Given the description of an element on the screen output the (x, y) to click on. 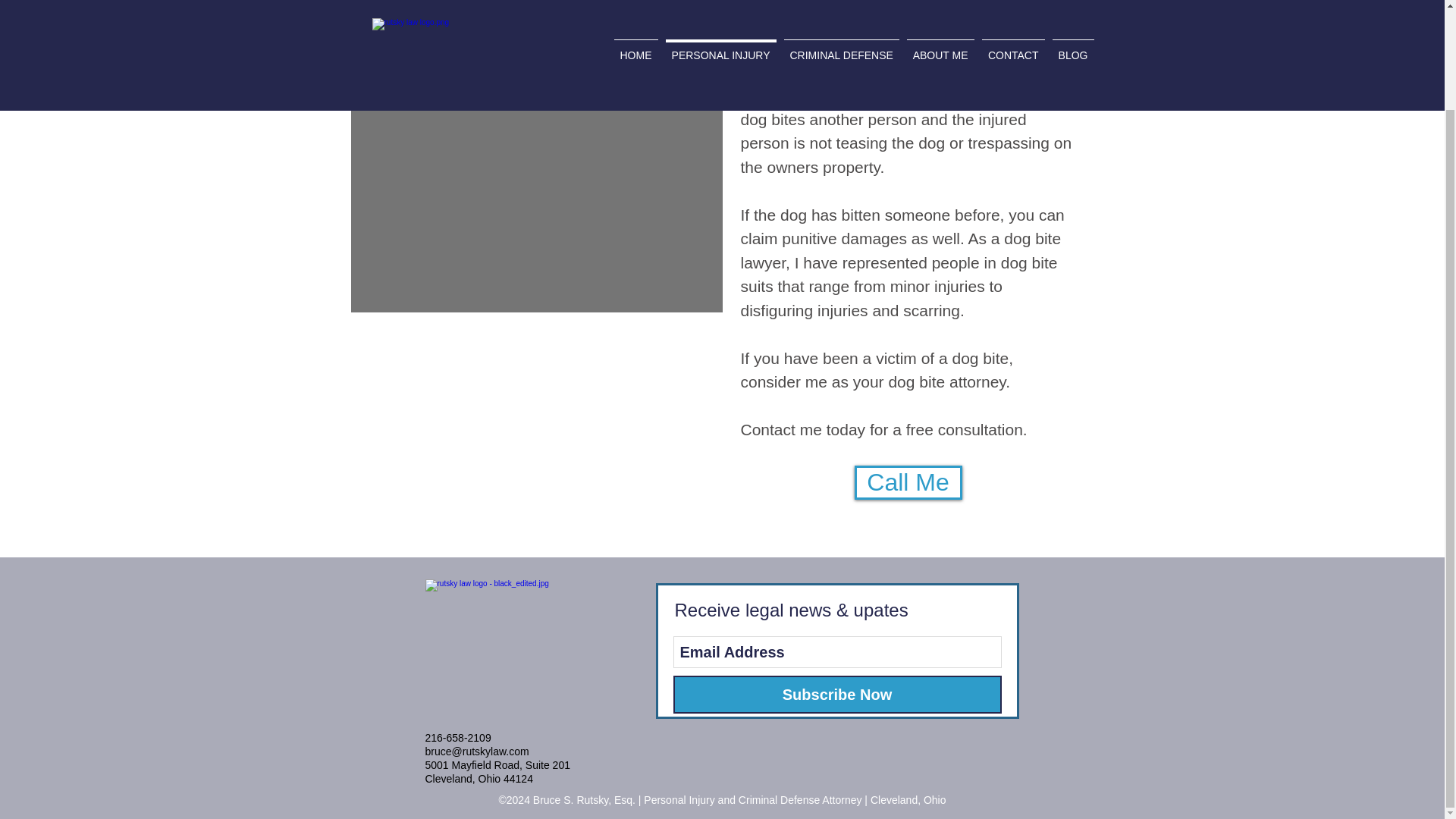
Call Me (906, 482)
216-658-2109 (457, 737)
Cleveland, Ohio (908, 799)
Subscribe Now (836, 694)
